Given the description of an element on the screen output the (x, y) to click on. 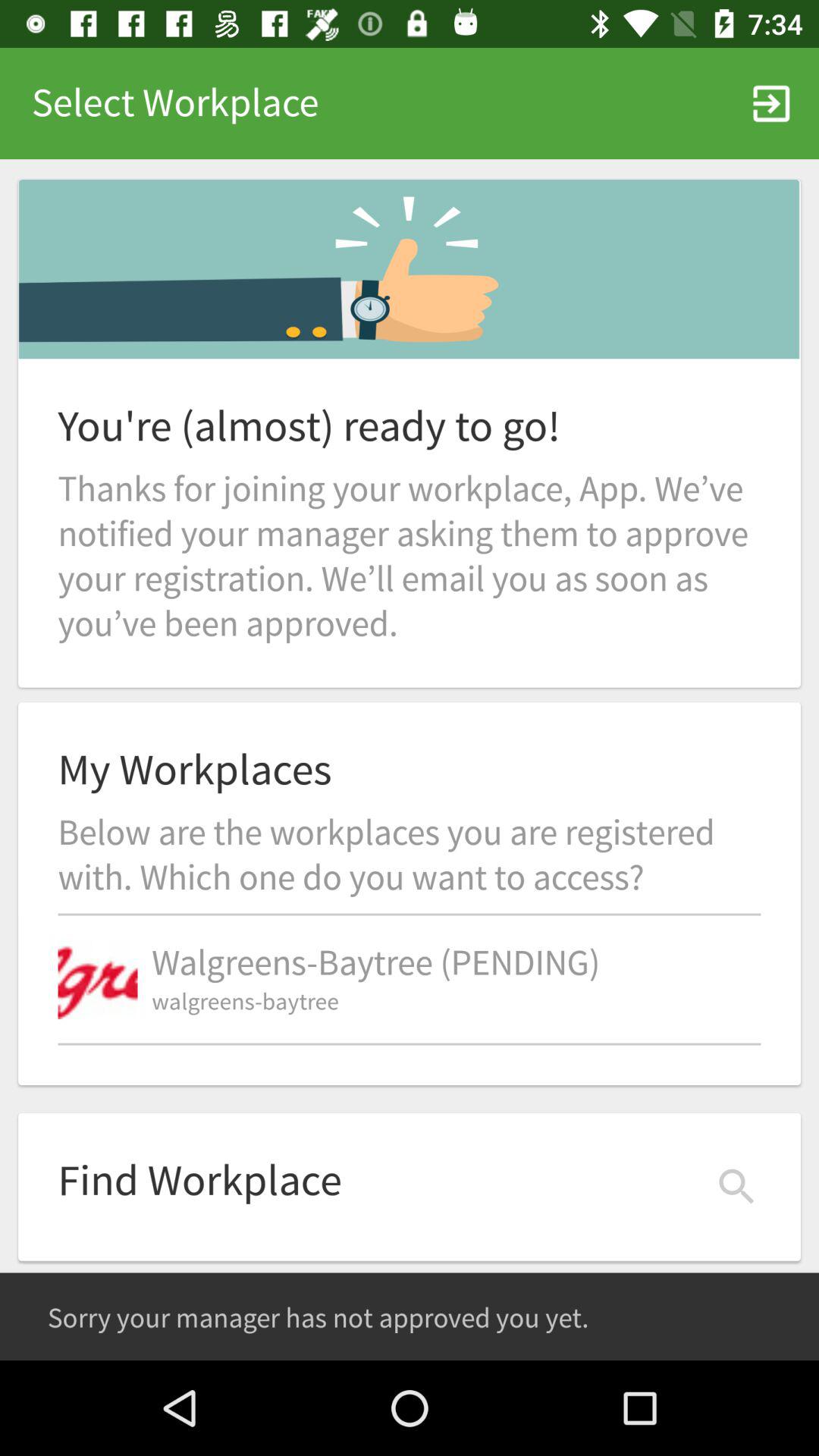
select item to the right of the select workplace icon (771, 103)
